Given the description of an element on the screen output the (x, y) to click on. 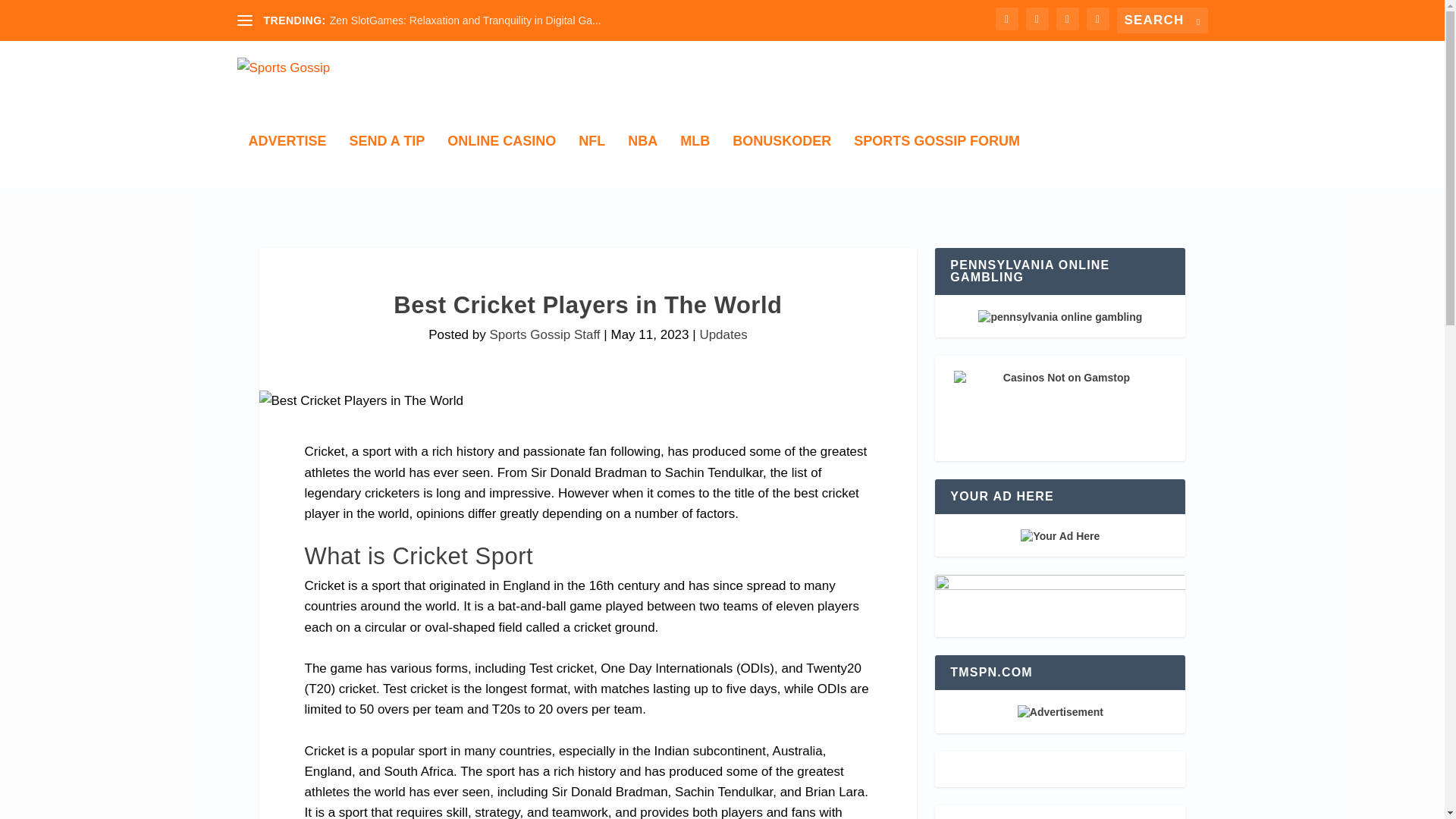
ADVERTISE (287, 161)
Casinos Not on Gamstop (1059, 408)
SPORTS GOSSIP FORUM (936, 161)
Sports Gossip Staff (544, 334)
Zen SlotGames: Relaxation and Tranquility in Digital Ga... (465, 20)
Search for: (1161, 20)
Posts by Sports Gossip Staff (544, 334)
Updates (722, 334)
BONUSKODER (781, 161)
ONLINE CASINO (501, 161)
SEND A TIP (387, 161)
